Given the description of an element on the screen output the (x, y) to click on. 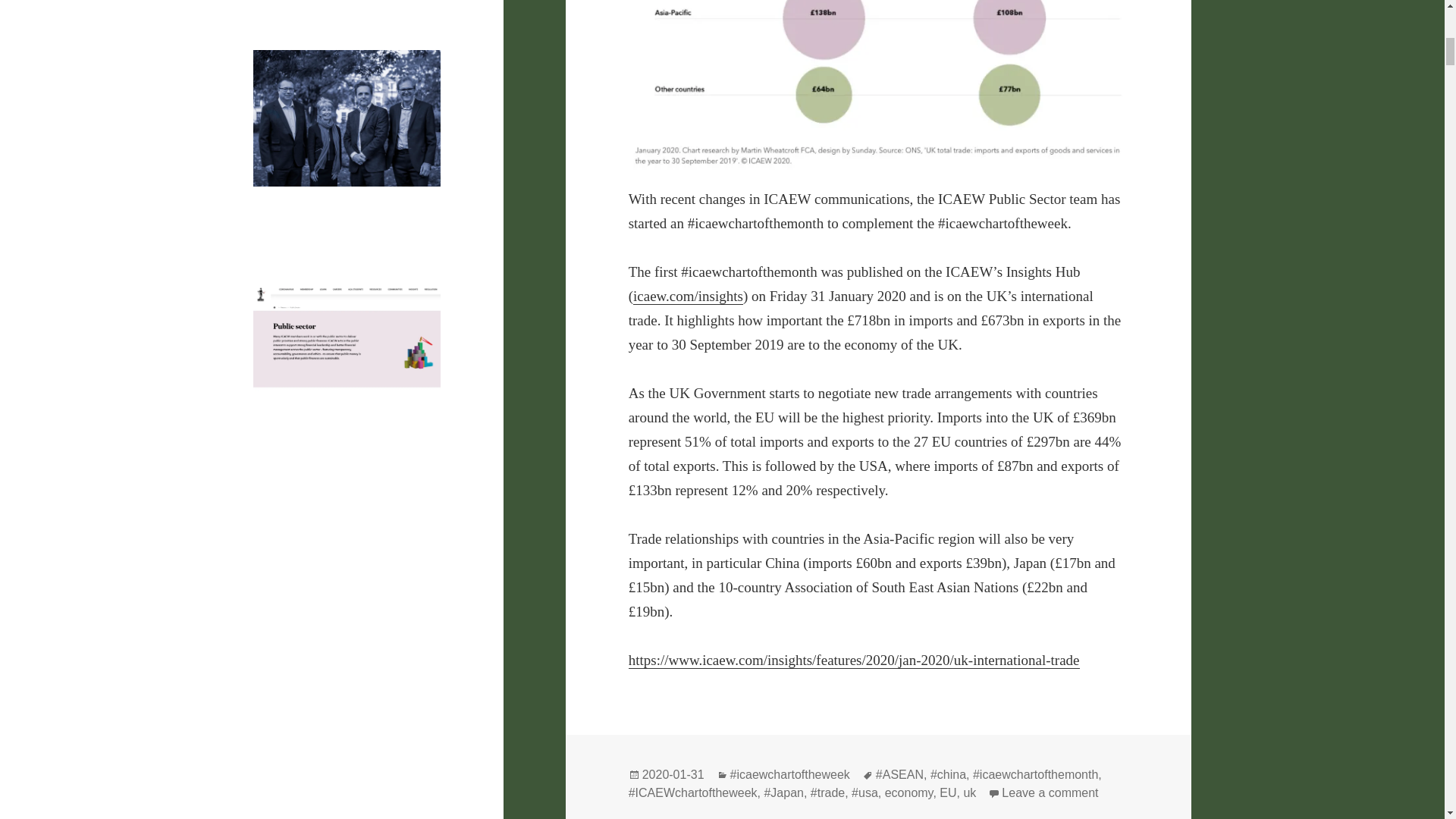
ICAEW Public Sector (346, 411)
ICAEW: The Office for Local Government (325, 671)
The Modern Professional Body (346, 206)
ICAEW Fiscal Insight: Spring Budget 2024 (345, 543)
